Given the description of an element on the screen output the (x, y) to click on. 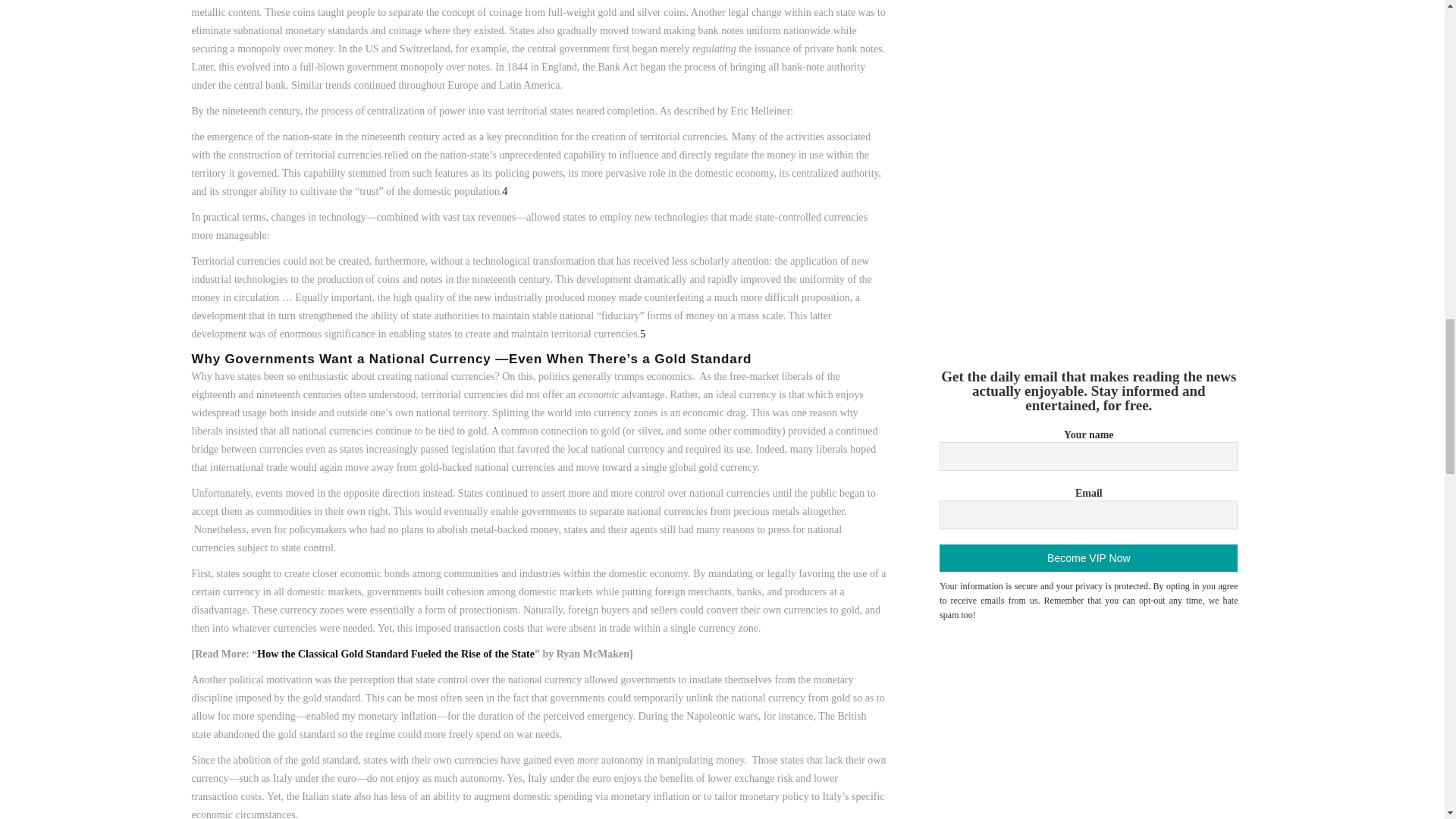
5 (642, 333)
How the Classical Gold Standard Fueled the Rise of the State (395, 654)
Ibid. (642, 333)
4 (504, 191)
Become VIP Now (1088, 557)
